Given the description of an element on the screen output the (x, y) to click on. 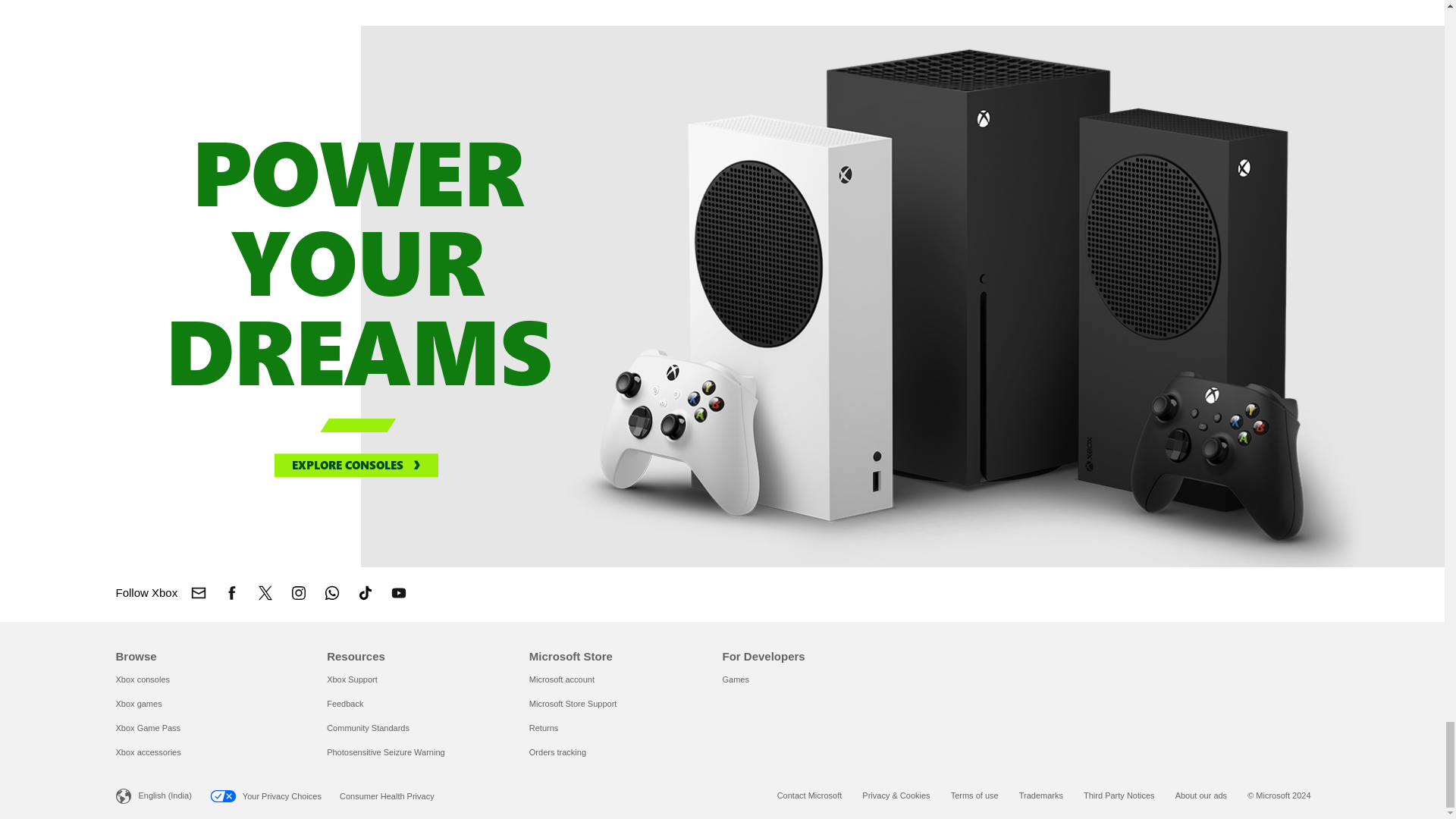
WhatsApp (336, 592)
Facebook (236, 592)
Instagram (303, 592)
Email (202, 592)
YouTube (403, 592)
TikTok (370, 592)
X (269, 592)
